Given the description of an element on the screen output the (x, y) to click on. 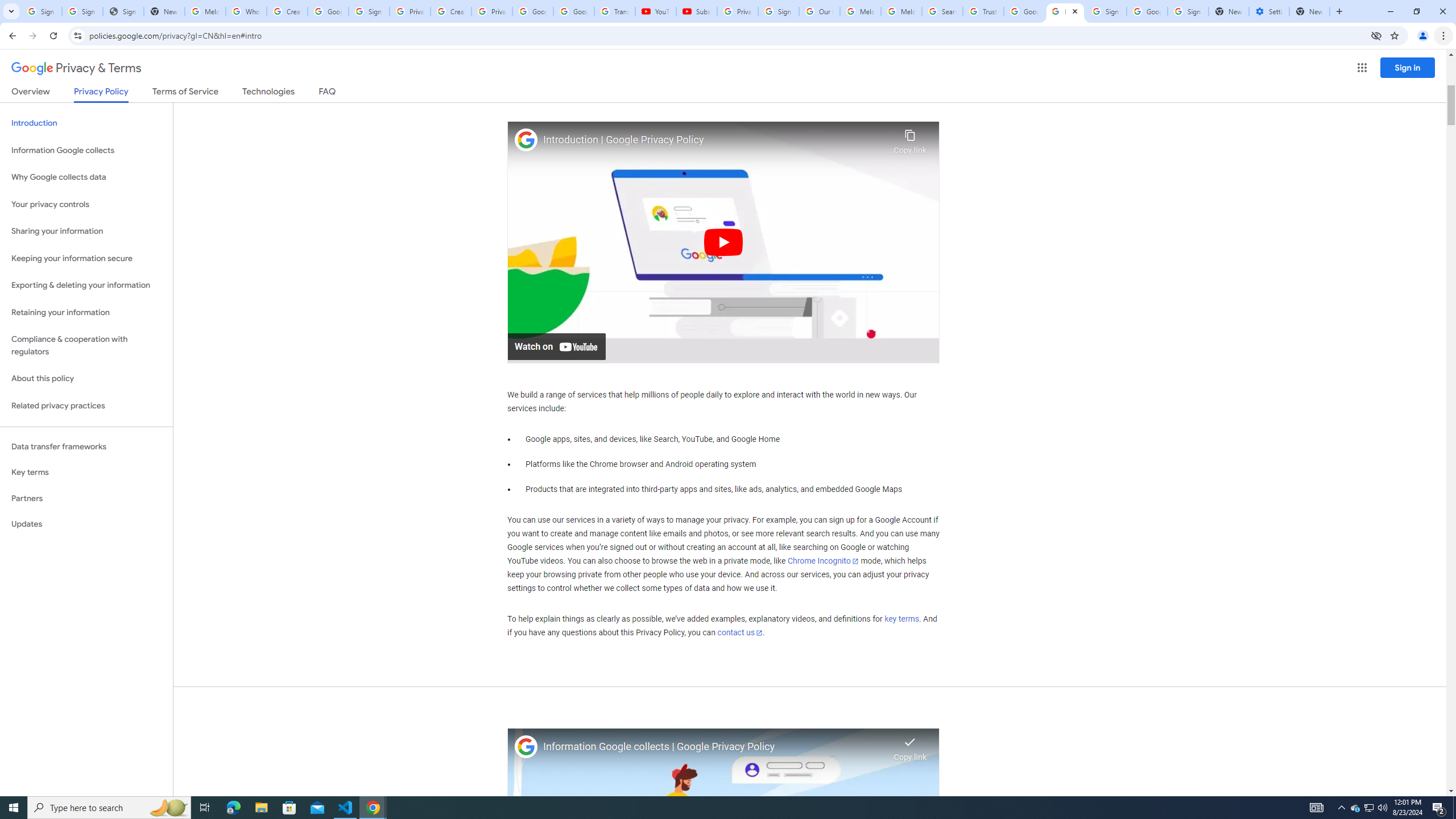
Key terms (86, 472)
Play (723, 241)
Create your Google Account (287, 11)
Introduction | Google Privacy Policy (715, 139)
Keeping your information secure (86, 258)
Sign In - USA TODAY (122, 11)
Sign in - Google Accounts (1187, 11)
Copy link (909, 138)
Sharing your information (86, 230)
